Given the description of an element on the screen output the (x, y) to click on. 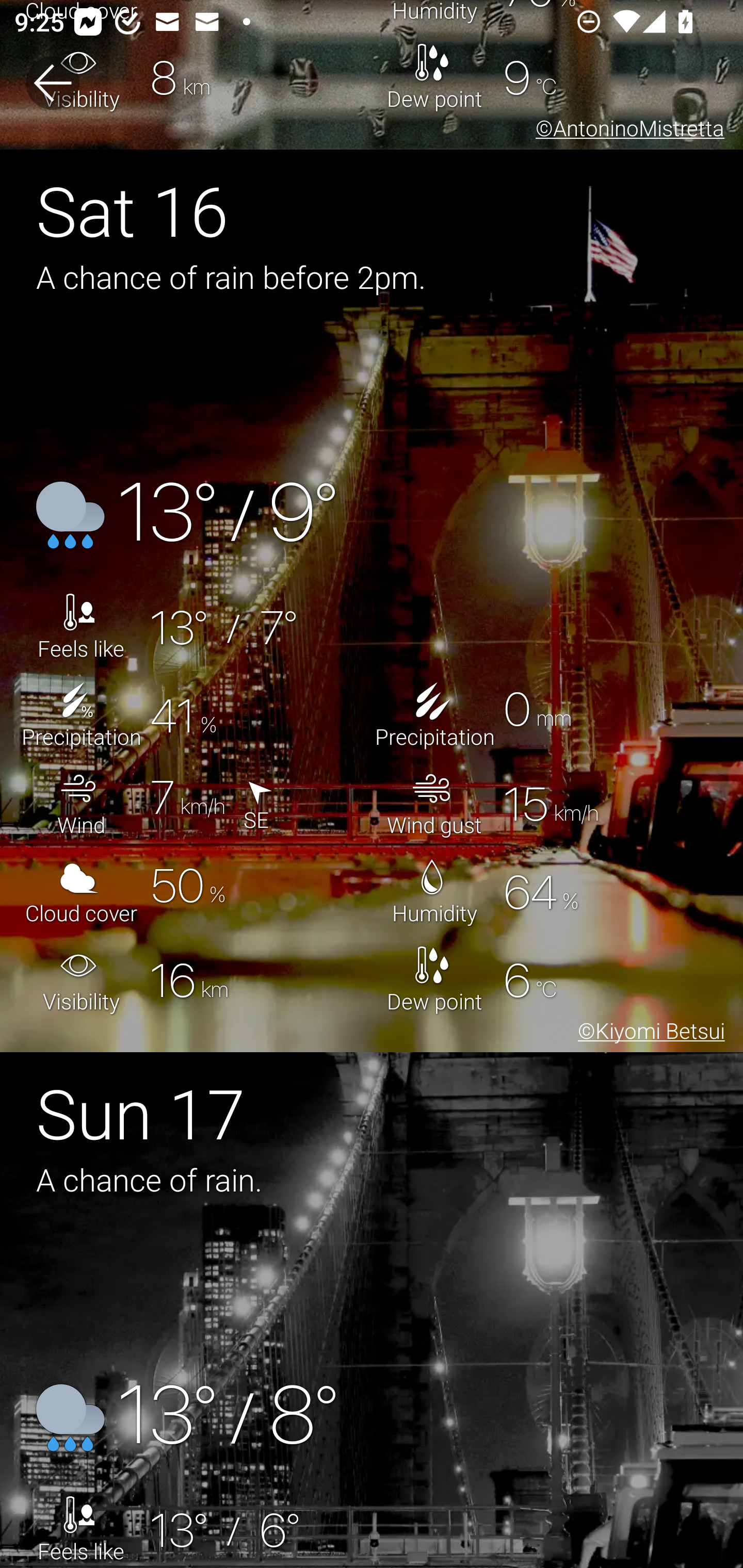
©AntoninoMistretta (626, 130)
©Kiyomi Betsui (647, 1034)
